Given the description of an element on the screen output the (x, y) to click on. 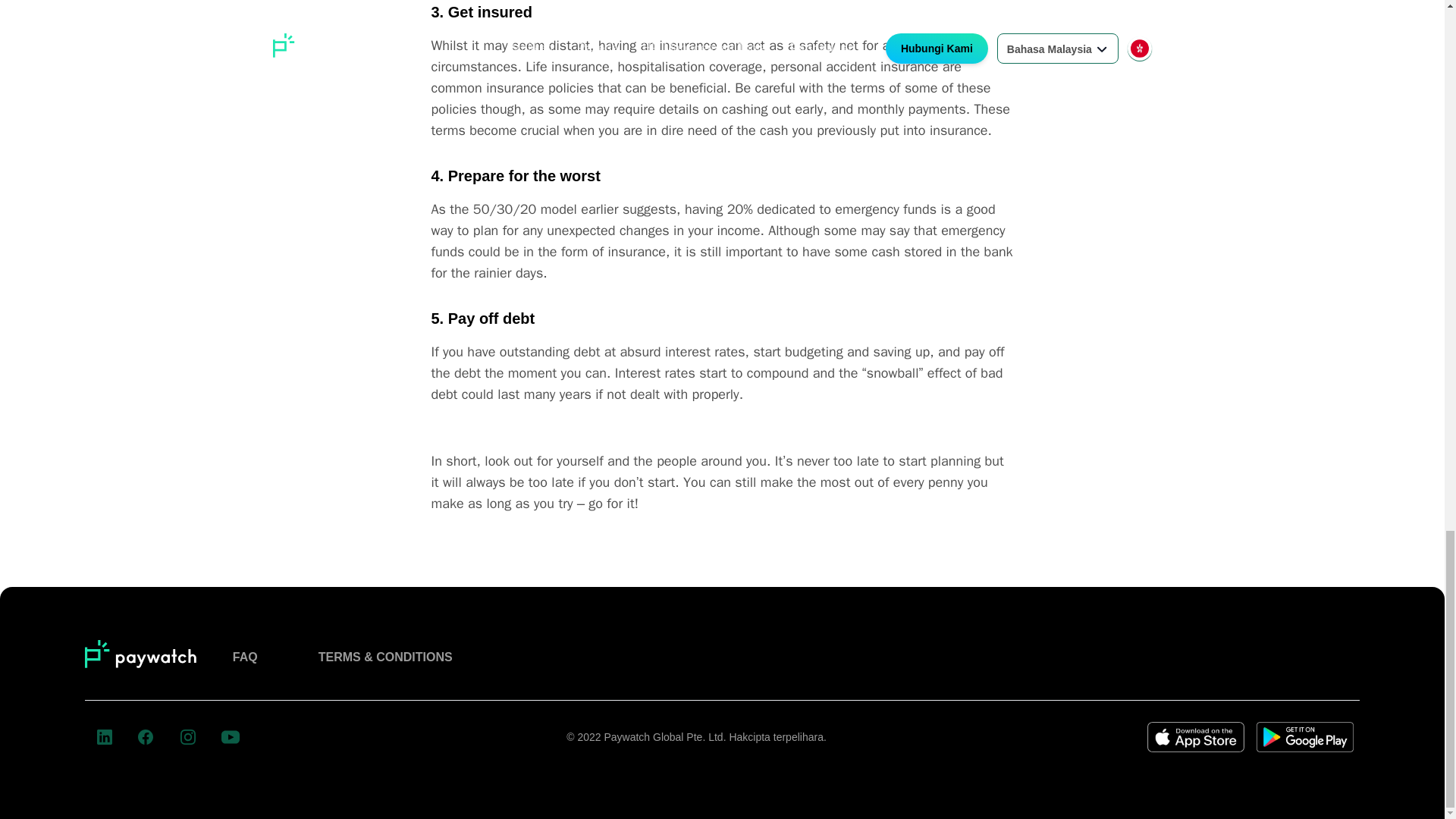
FAQ (244, 656)
